Given the description of an element on the screen output the (x, y) to click on. 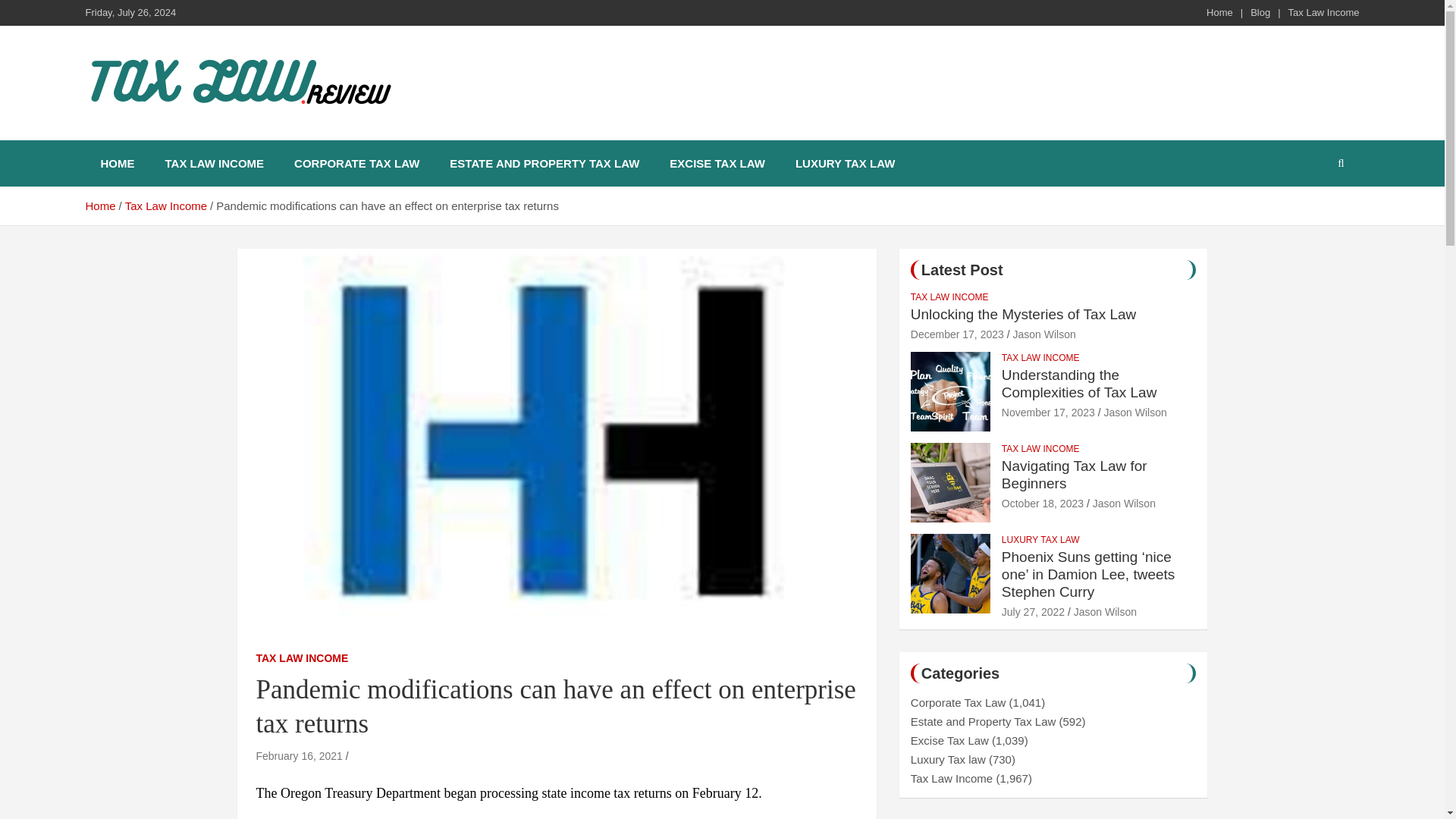
Navigating Tax Law for Beginners (1074, 474)
February 16, 2021 (299, 756)
Blog (1259, 12)
Jason Wilson (1124, 503)
Unlocking the Mysteries of Tax Law (957, 334)
Tax Law Income (165, 205)
Latest Post (962, 269)
TAX LAW INCOME (1040, 358)
LUXURY TAX LAW (1040, 540)
October 18, 2023 (1042, 503)
Home (99, 205)
TAX LAW INCOME (214, 163)
EXCISE TAX LAW (716, 163)
TAX LAW (151, 136)
CORPORATE TAX LAW (356, 163)
